Given the description of an element on the screen output the (x, y) to click on. 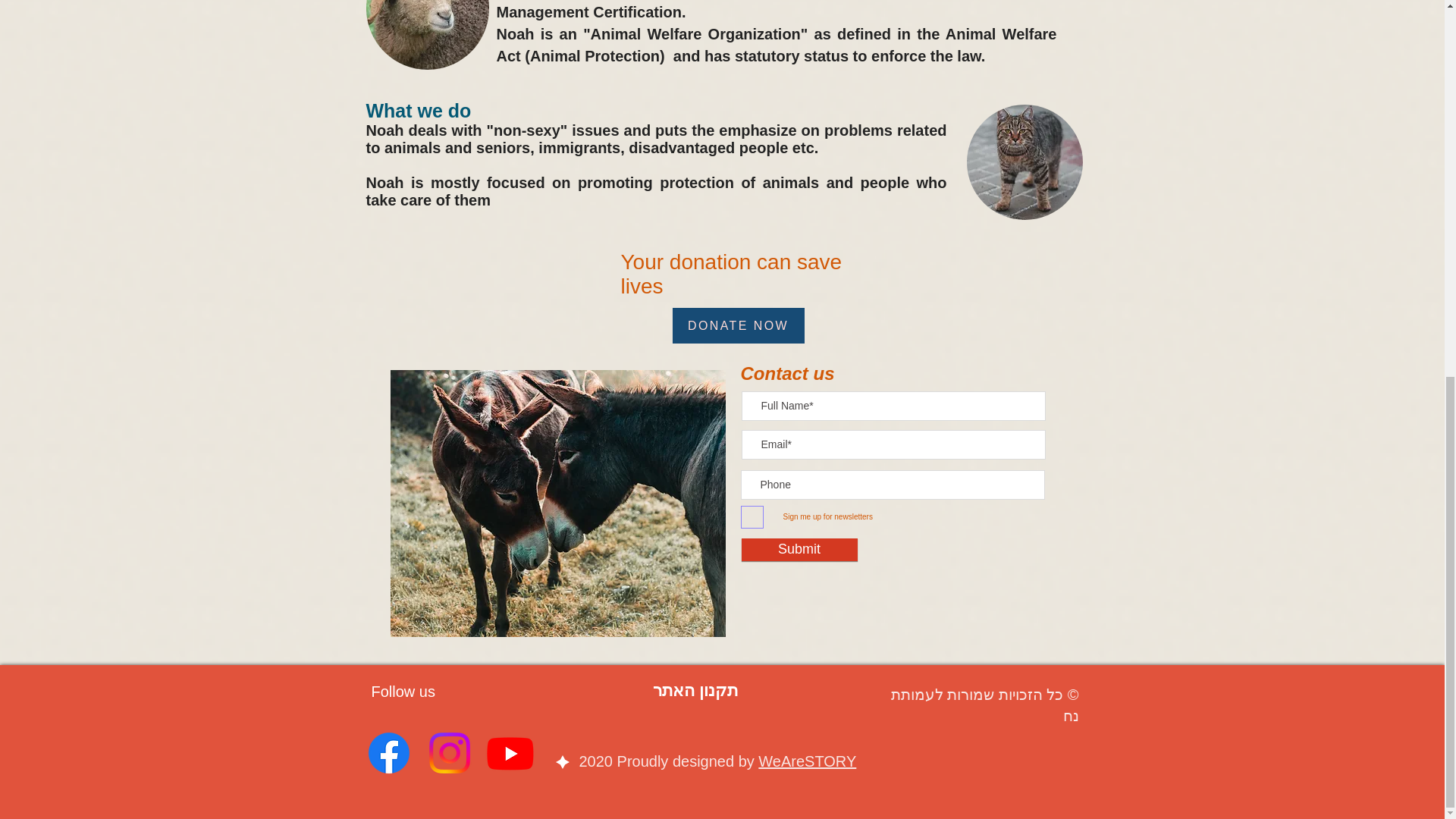
DONATE NOW (737, 325)
Submit (799, 549)
WeAreSTORY (807, 760)
Follow us (403, 691)
